Given the description of an element on the screen output the (x, y) to click on. 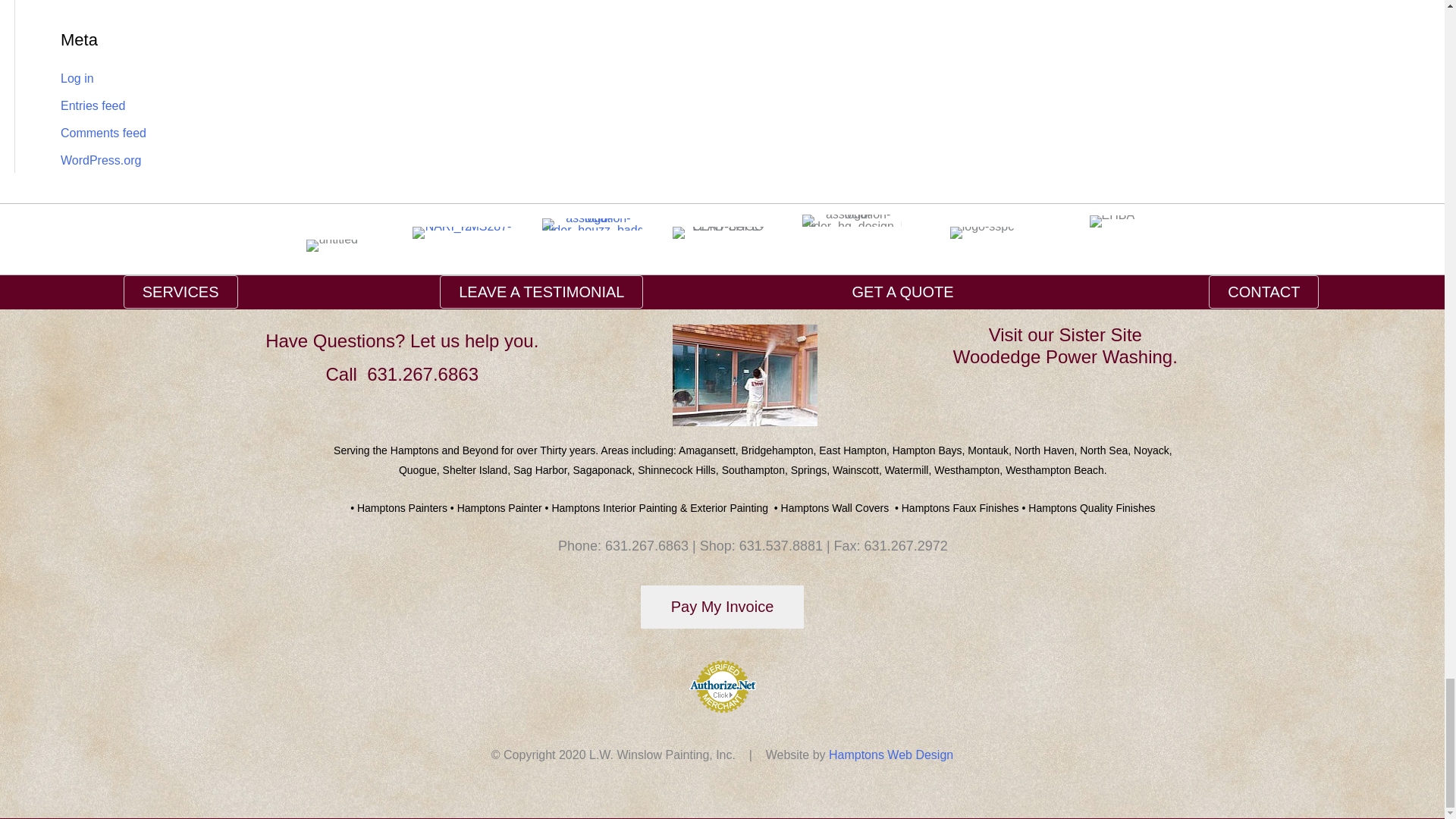
Pay My Invoice (722, 606)
logo-sspc (981, 232)
untitled (331, 245)
LEAD-SAFE-CERT-LOGO (721, 232)
